Given the description of an element on the screen output the (x, y) to click on. 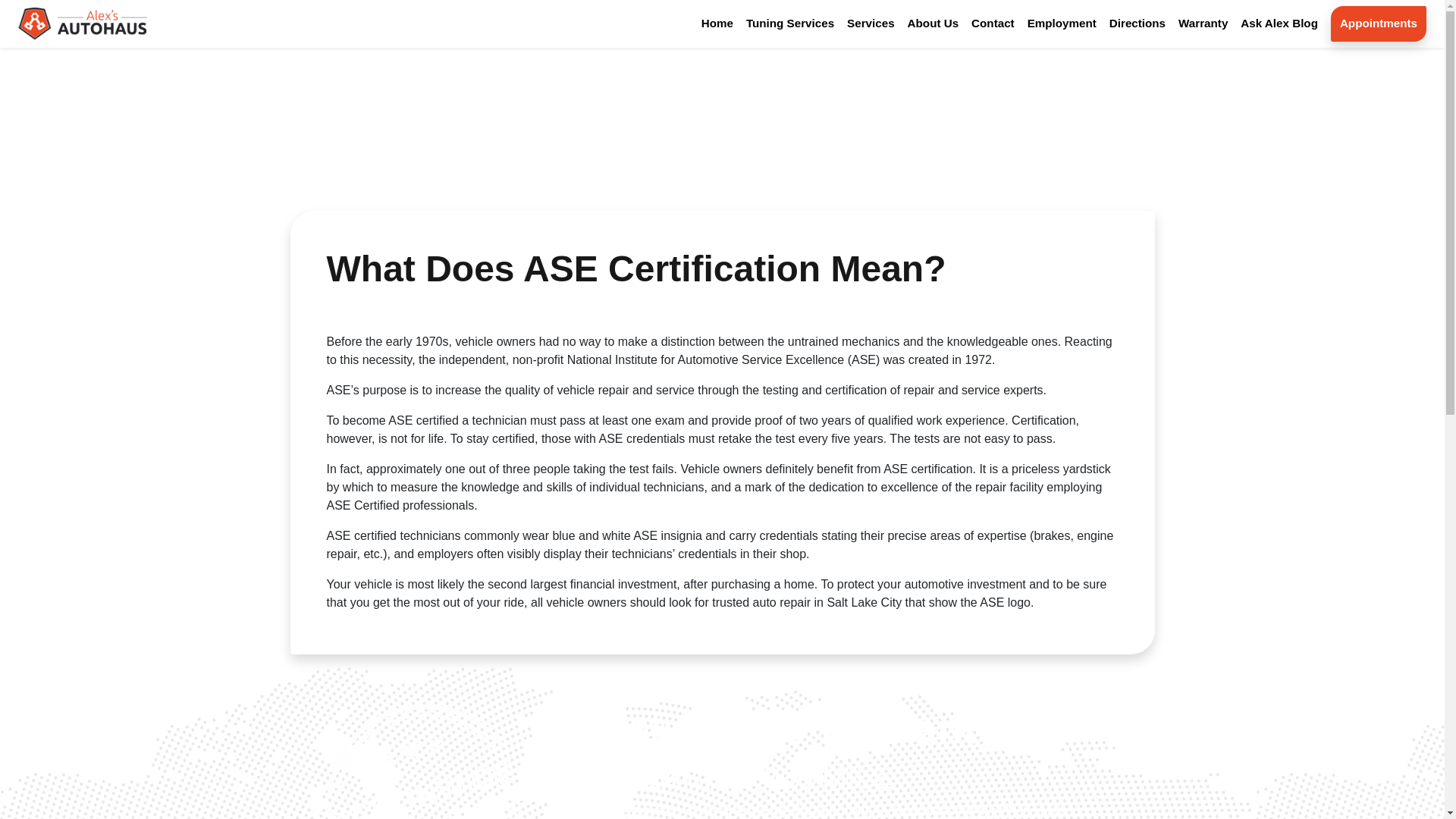
Directions (1137, 23)
Appointments (1377, 23)
Ask Alex Blog (1278, 23)
Home (717, 23)
Employment (1061, 23)
Services (871, 23)
About Us (933, 23)
Warranty (1202, 23)
Tuning Services (789, 23)
Contact (992, 23)
